Given the description of an element on the screen output the (x, y) to click on. 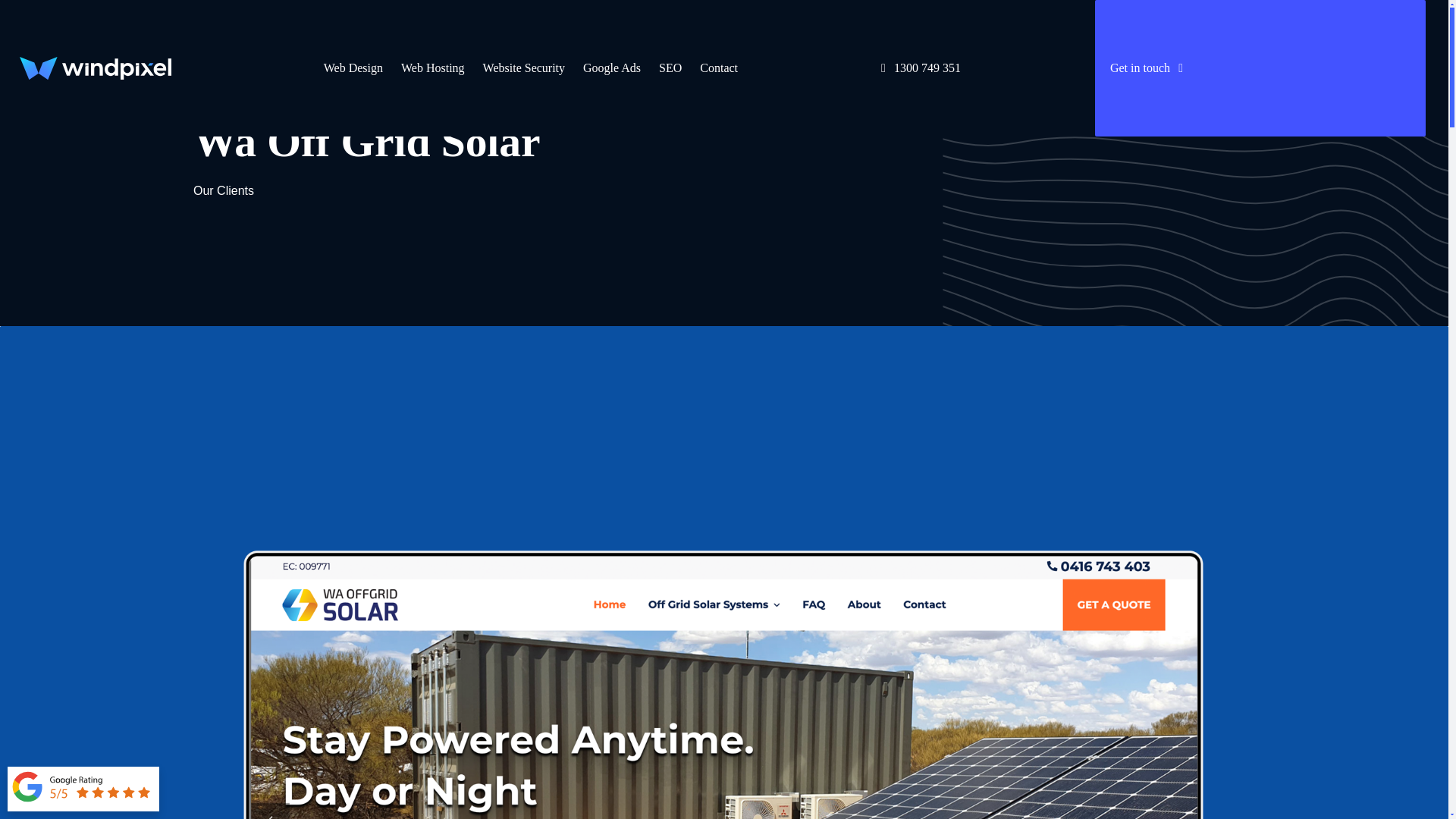
Web Hosting (432, 68)
SEO (669, 68)
Get in touch (1259, 68)
Website Security (523, 68)
1300 749 351 (920, 67)
Google Ads (611, 68)
google-reviews (83, 786)
Contact (718, 68)
Web Design (352, 68)
